Given the description of an element on the screen output the (x, y) to click on. 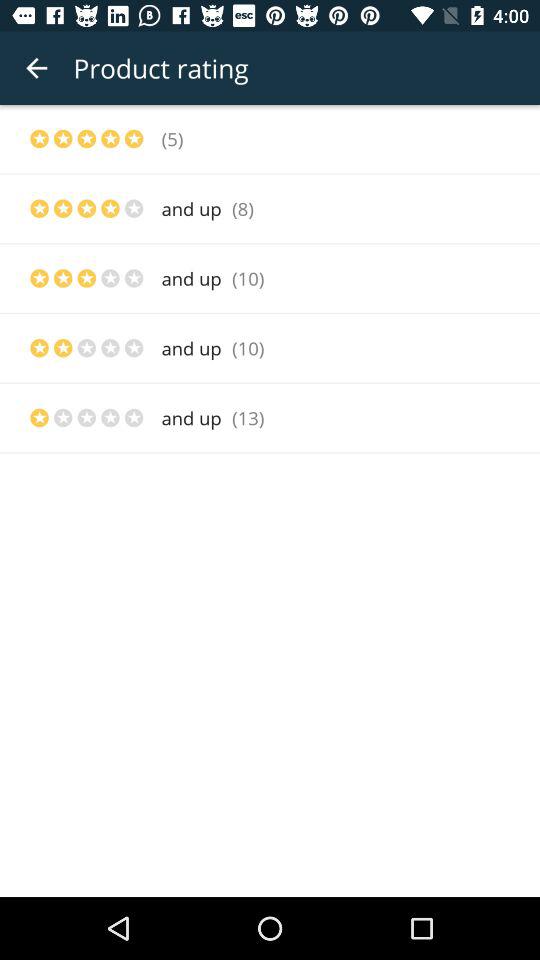
press item to the left of product rating item (36, 68)
